Given the description of an element on the screen output the (x, y) to click on. 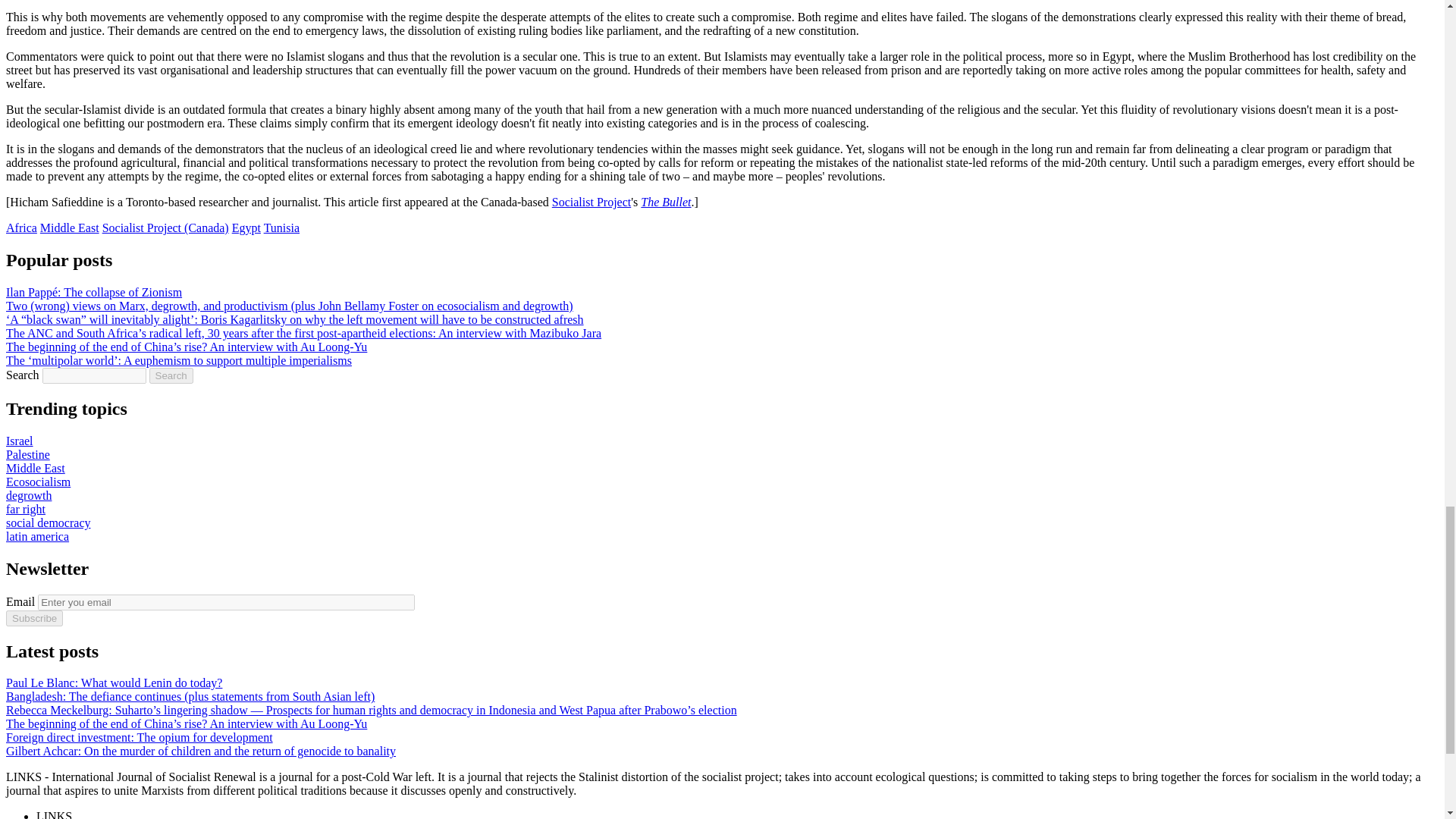
far right (25, 508)
Socialist Project (590, 201)
The Bullet (665, 201)
Egypt (245, 227)
social democracy (47, 522)
Subscribe (33, 618)
Enter the terms you wish to search for. (94, 375)
Search (171, 375)
Tunisia (281, 227)
degrowth (27, 495)
Africa (21, 227)
latin america (36, 535)
Middle East (35, 468)
Israel (19, 440)
Ecosocialism (37, 481)
